Given the description of an element on the screen output the (x, y) to click on. 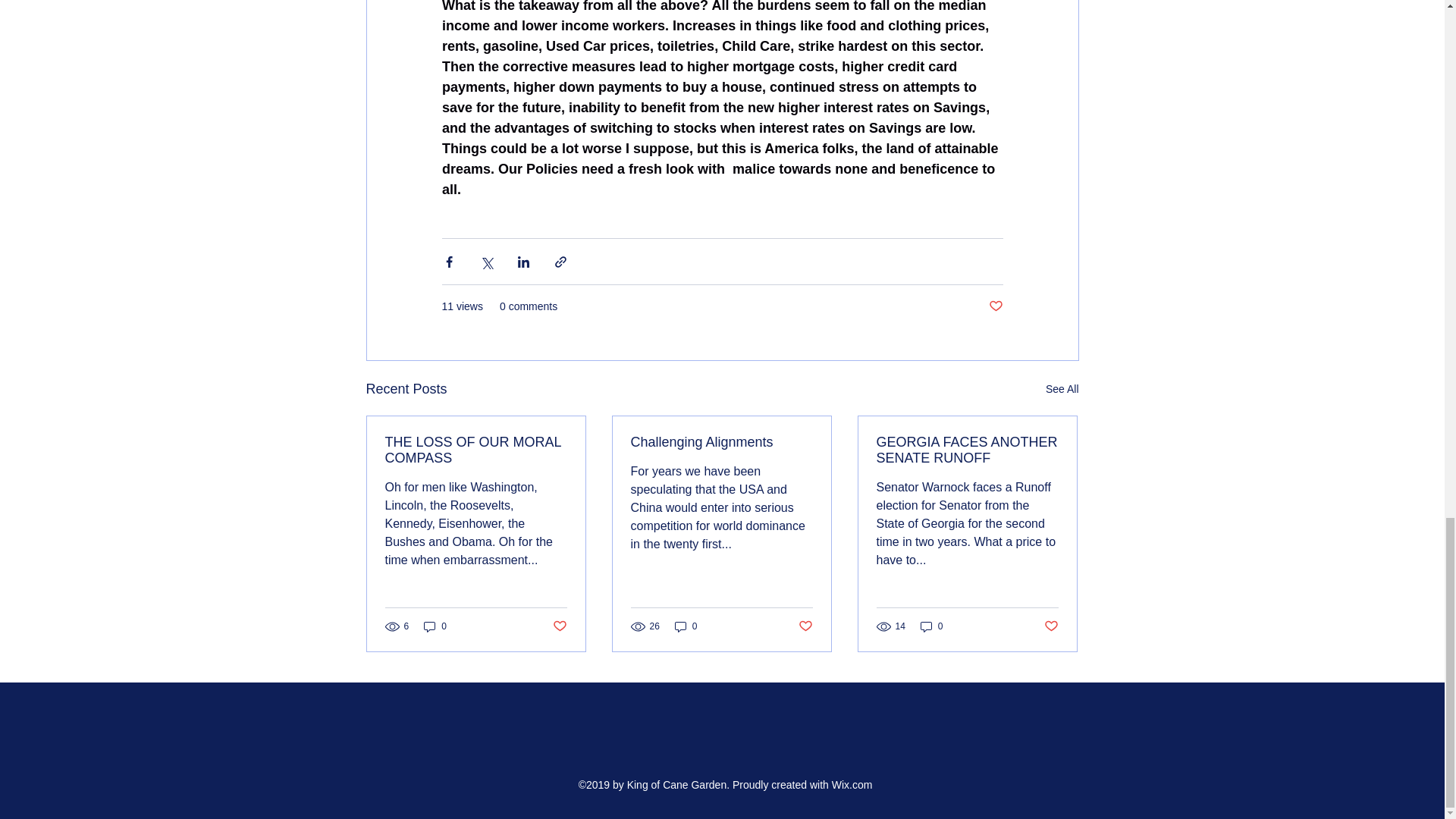
GEORGIA FACES ANOTHER SENATE RUNOFF (967, 450)
THE LOSS OF OUR MORAL COMPASS (476, 450)
Challenging Alignments (721, 442)
Post not marked as liked (804, 626)
Post not marked as liked (995, 306)
Post not marked as liked (1050, 626)
See All (1061, 389)
0 (685, 626)
0 (435, 626)
Post not marked as liked (558, 626)
